Given the description of an element on the screen output the (x, y) to click on. 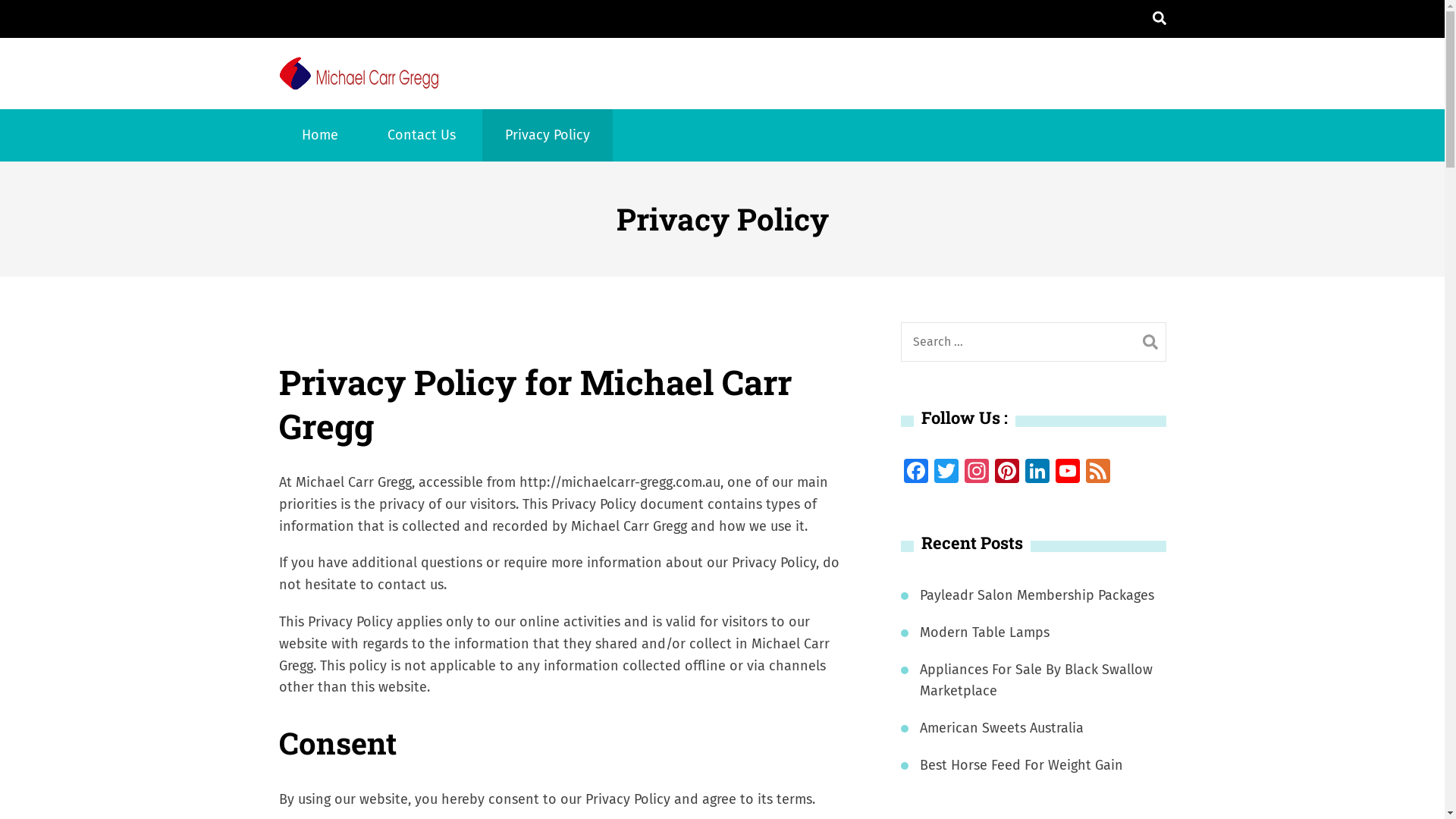
YouTube Element type: text (1067, 472)
Feed Element type: text (1097, 472)
Privacy Policy Element type: text (547, 135)
Home Element type: text (319, 135)
Payleadr Salon Membership Packages Element type: text (1036, 595)
American Sweets Australia Element type: text (1000, 728)
Instagram Element type: text (976, 472)
Best Horse Feed For Weight Gain Element type: text (1020, 765)
Facebook Element type: text (915, 472)
Search Element type: text (1149, 341)
Modern Table Lamps Element type: text (983, 632)
Twitter Element type: text (946, 472)
Contact Us Element type: text (420, 135)
Appliances For Sale By Black Swallow Marketplace Element type: text (1042, 680)
Michael Carr Gregg Element type: text (578, 92)
LinkedIn Element type: text (1037, 472)
Pinterest Element type: text (1006, 472)
